Given the description of an element on the screen output the (x, y) to click on. 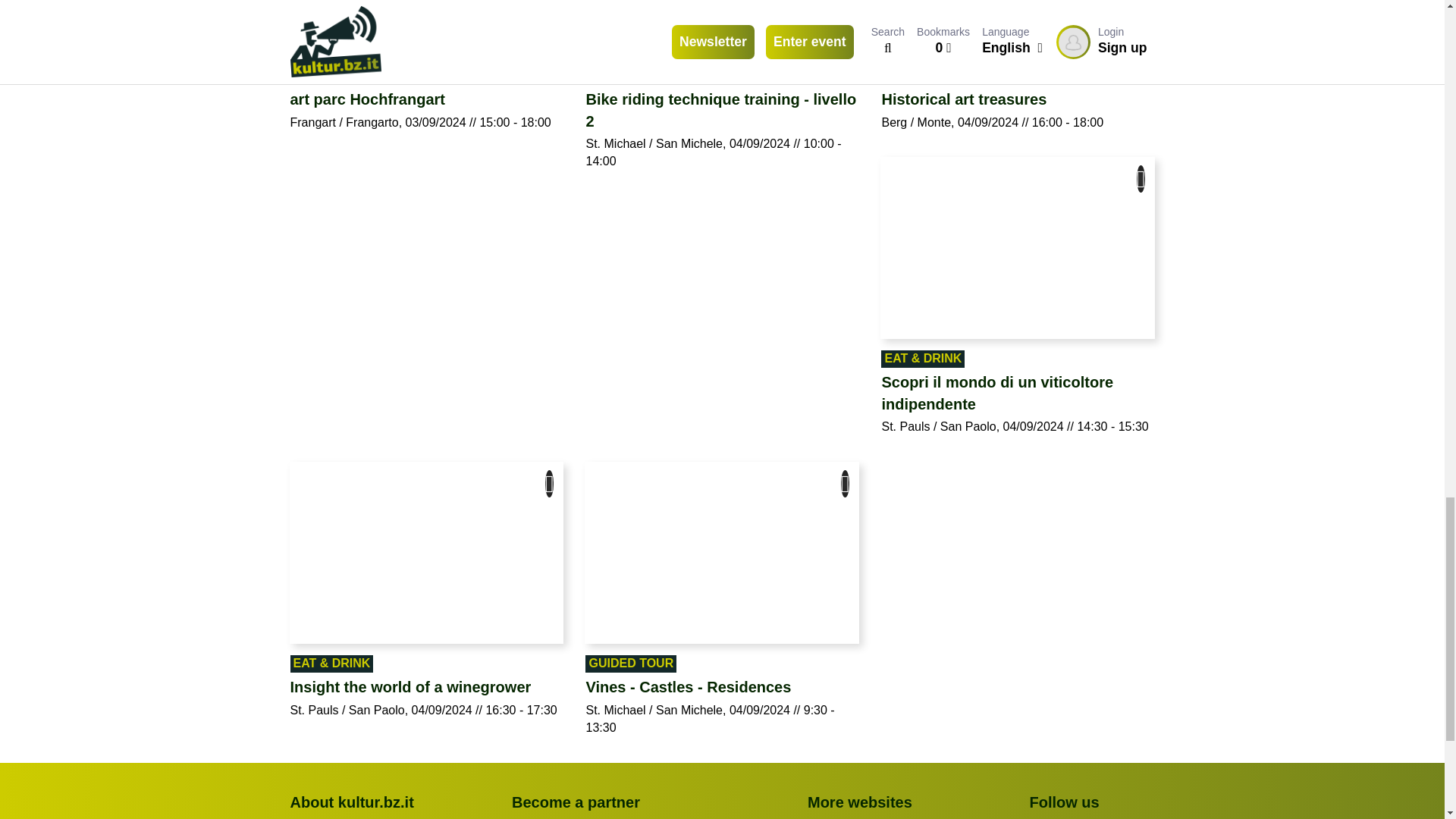
Insight the world of a winegrower (425, 687)
Bike riding technique training - livello 2 (722, 109)
art parc Hochfrangart (425, 99)
Scopri il mondo di un viticoltore indipendente (1017, 392)
Historical art treasures (1017, 99)
